Given the description of an element on the screen output the (x, y) to click on. 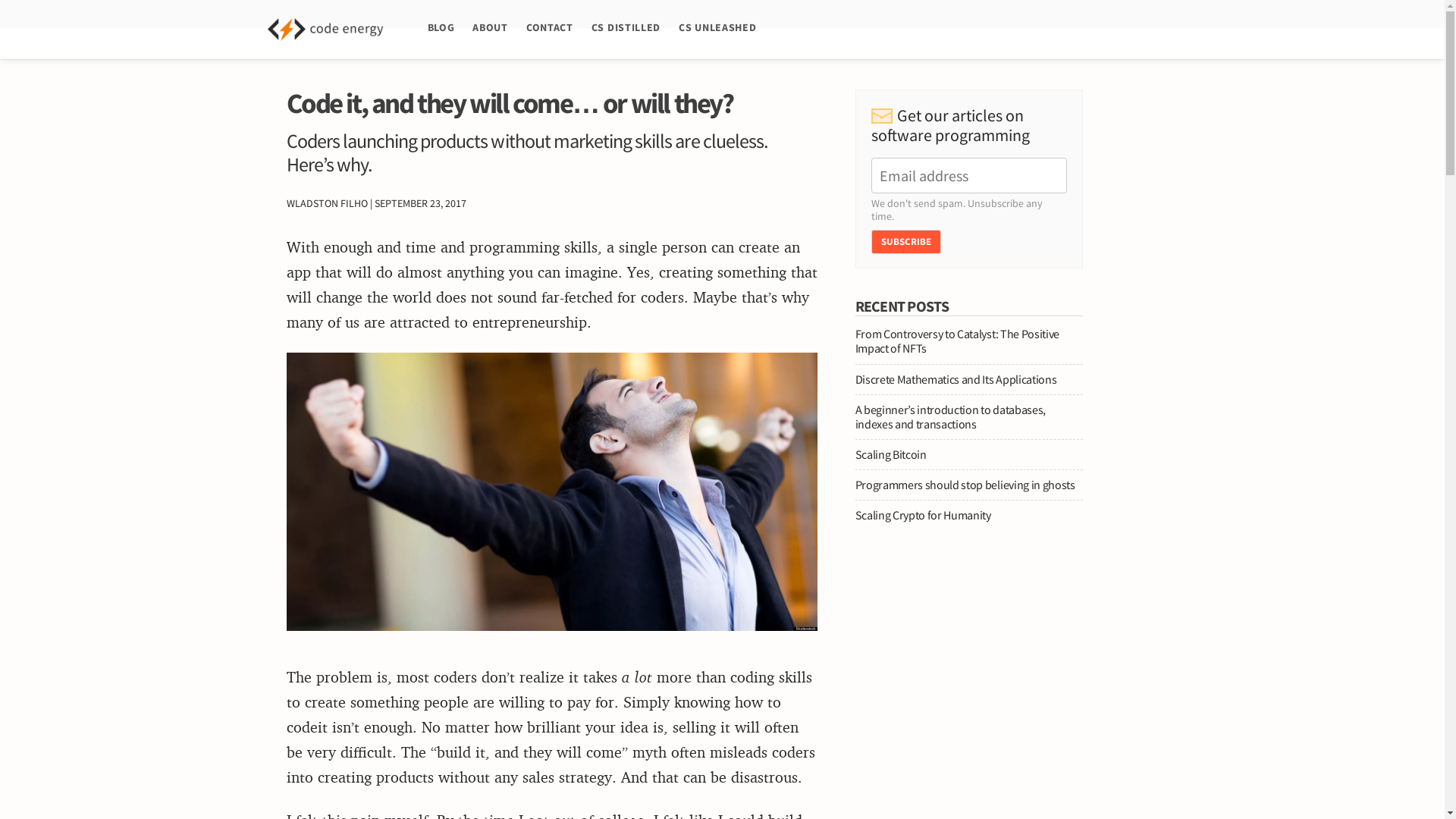
Scaling Crypto for Humanity (923, 514)
Scaling Bitcoin (891, 453)
Discrete Mathematics and Its Applications (956, 378)
Programmers should stop believing in ghosts (965, 484)
SUBSCRIBE (905, 241)
CS DISTILLED (626, 29)
From Controversy to Catalyst: The Positive Impact of NFTs (957, 340)
CS UNLEASHED (716, 29)
